Given the description of an element on the screen output the (x, y) to click on. 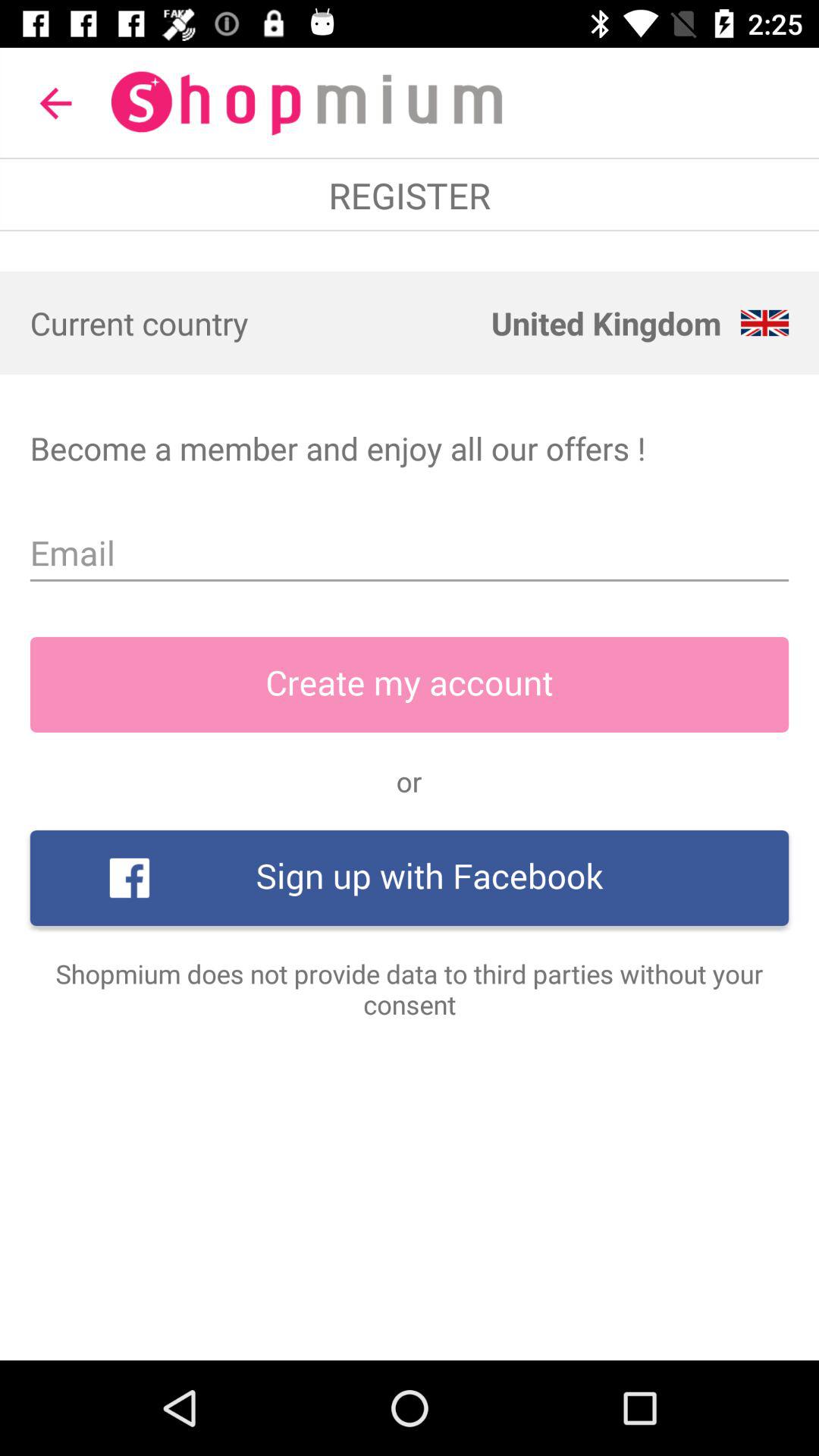
press the item above or icon (409, 684)
